Given the description of an element on the screen output the (x, y) to click on. 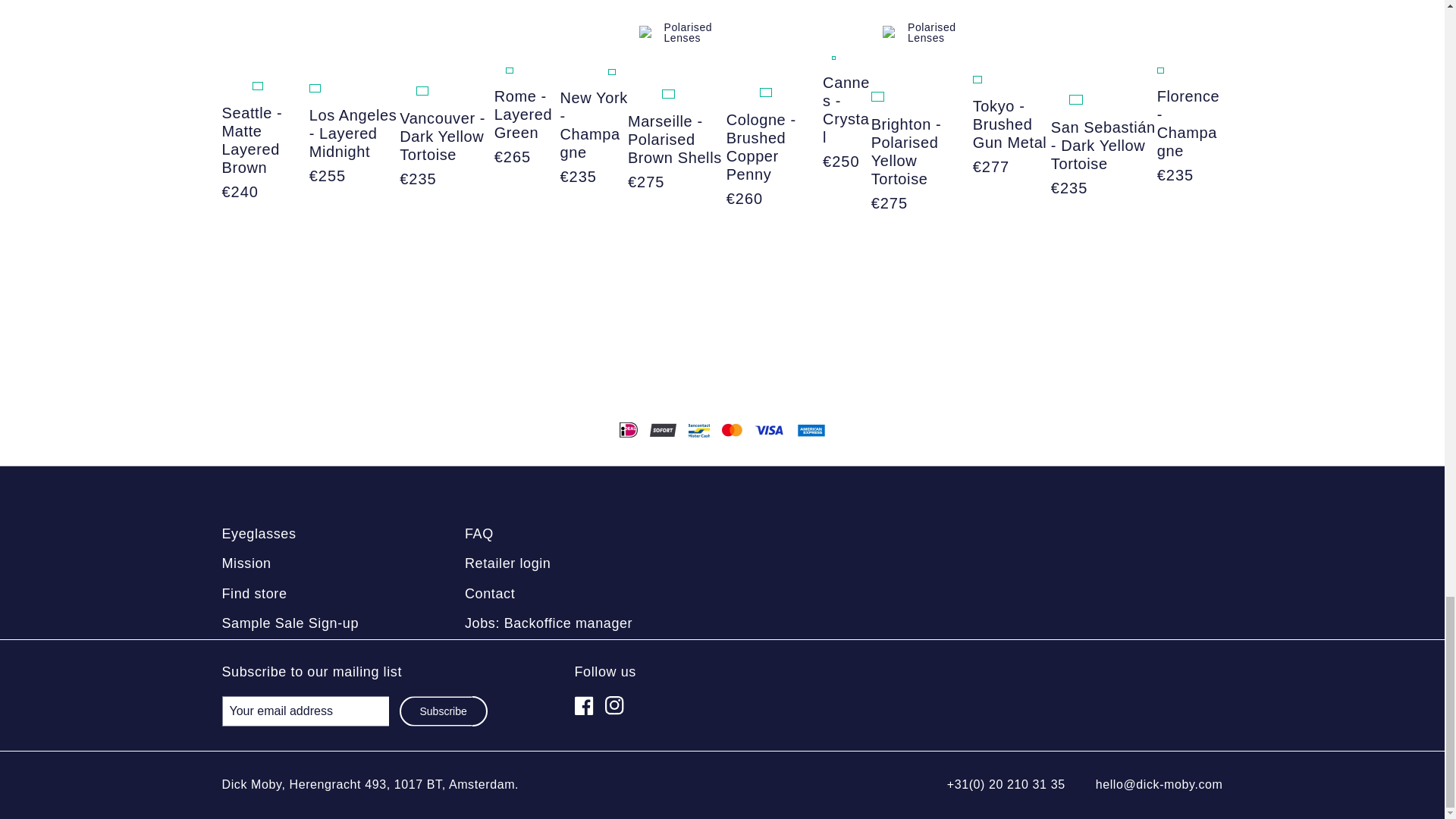
Dark sand (272, 85)
Yellow leaves (242, 85)
Green leaves (330, 88)
Matte layered brown (257, 85)
Olive (226, 85)
Matte grey leaves (346, 88)
Layered midnight (314, 88)
